Given the description of an element on the screen output the (x, y) to click on. 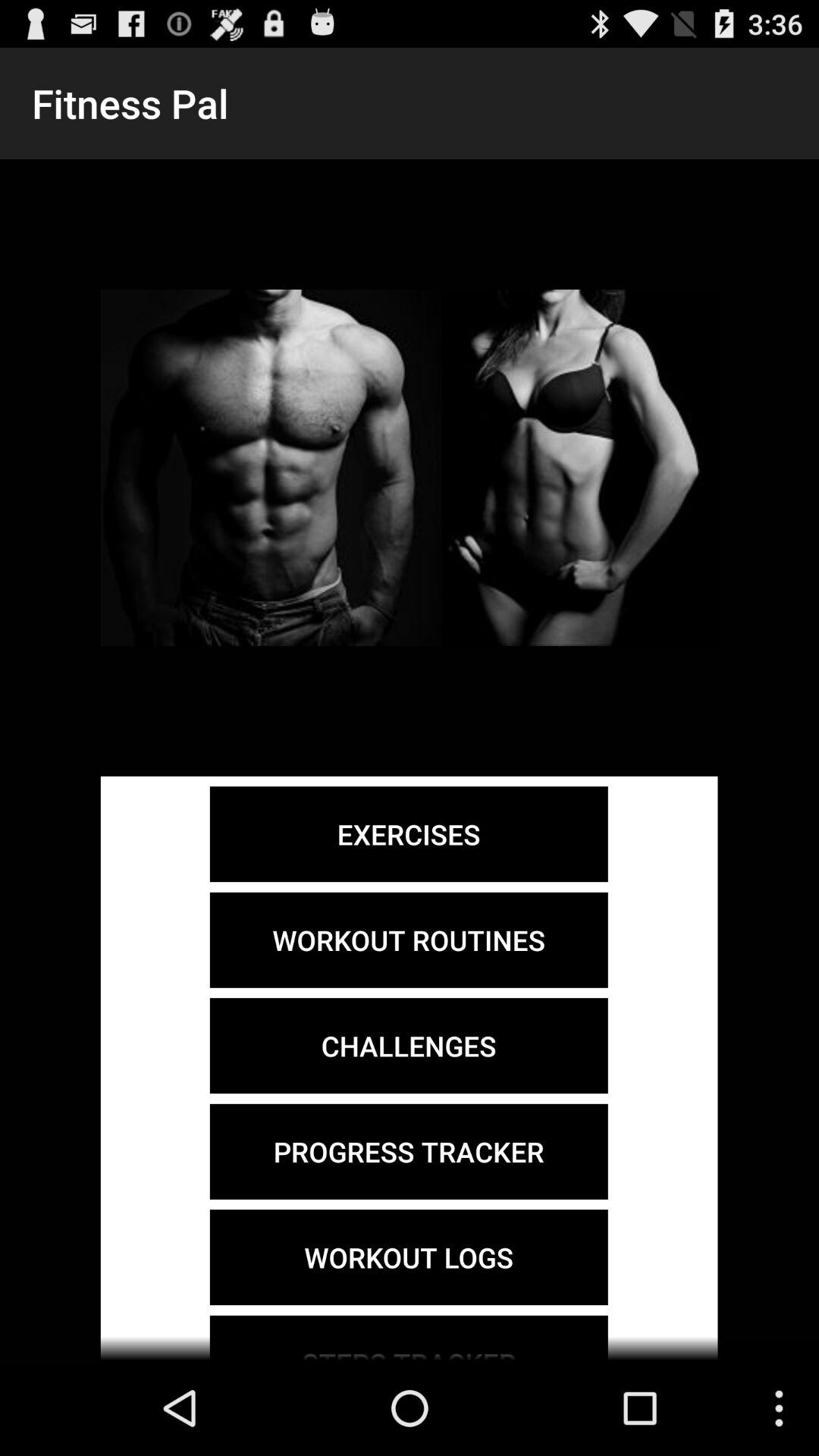
press icon below the progress tracker item (408, 1257)
